Given the description of an element on the screen output the (x, y) to click on. 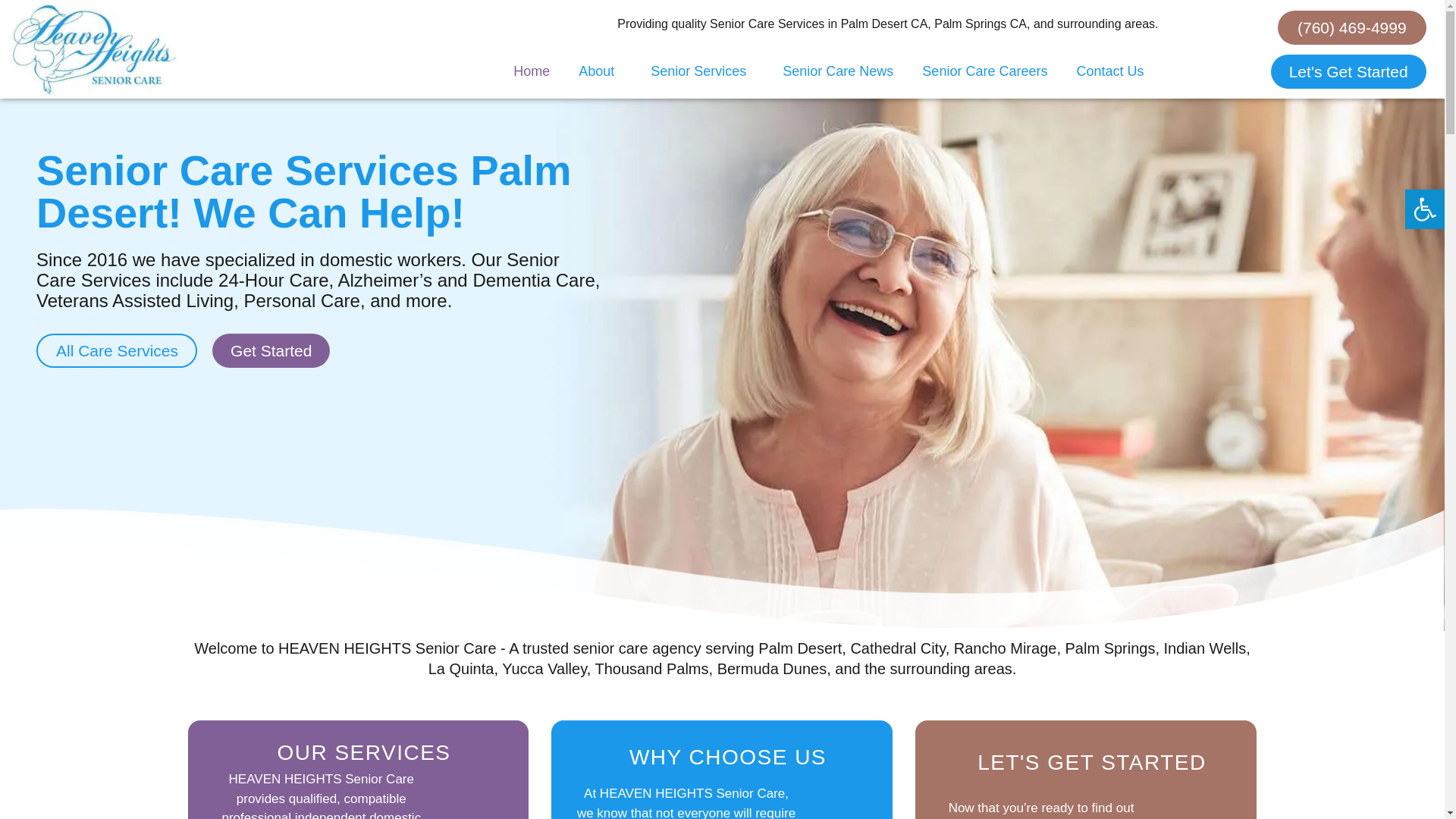
Let's Get Started (1348, 71)
Senior Care News (837, 70)
About (600, 70)
Senior Services (702, 70)
Home (531, 70)
Contact Us (1109, 70)
Senior Care Careers (984, 70)
Accessibility Tools (1424, 209)
